Given the description of an element on the screen output the (x, y) to click on. 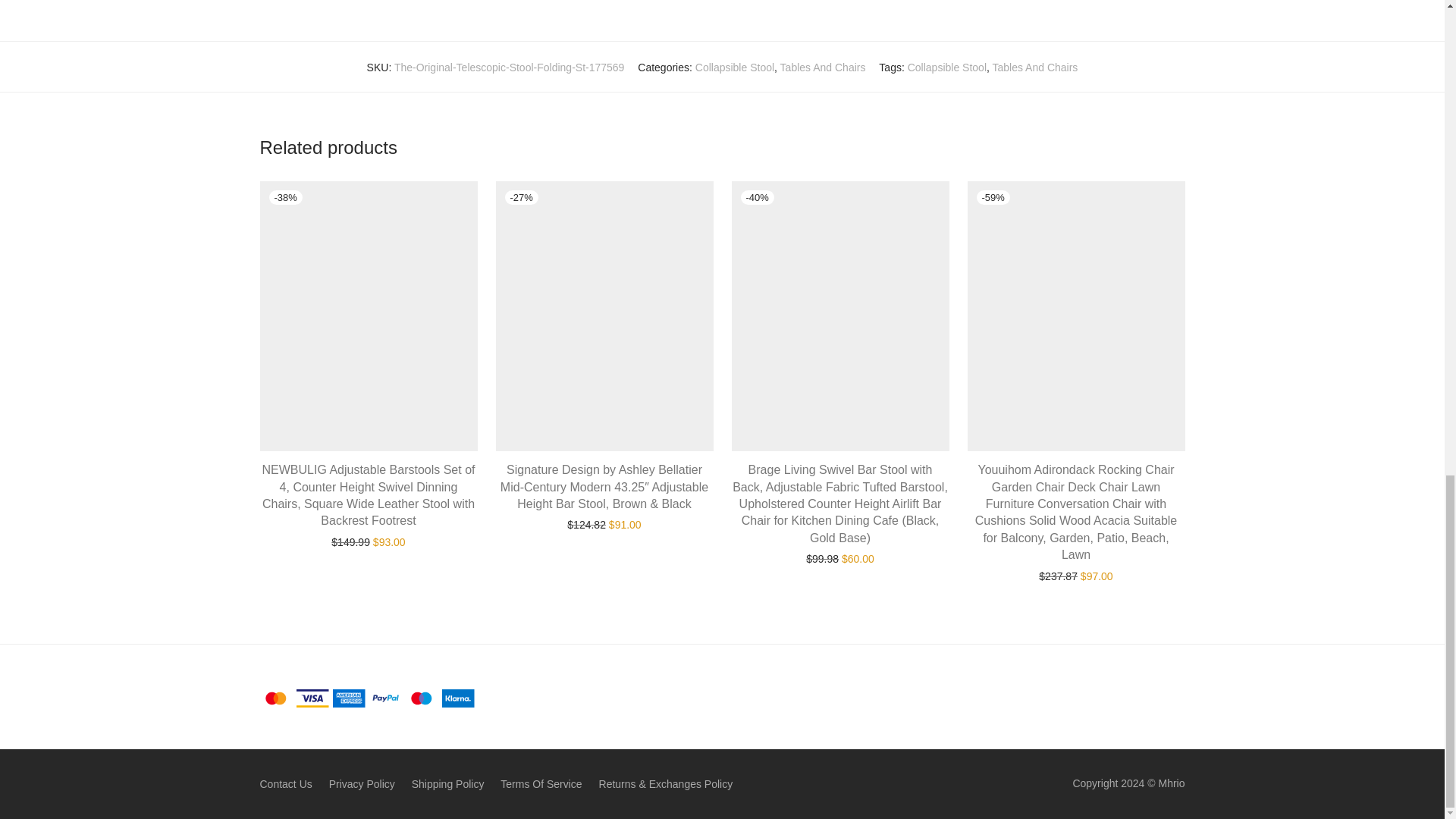
Collapsible Stool (734, 67)
Tables And Chairs (823, 67)
Tables And Chairs (1035, 67)
Collapsible Stool (947, 67)
